Given the description of an element on the screen output the (x, y) to click on. 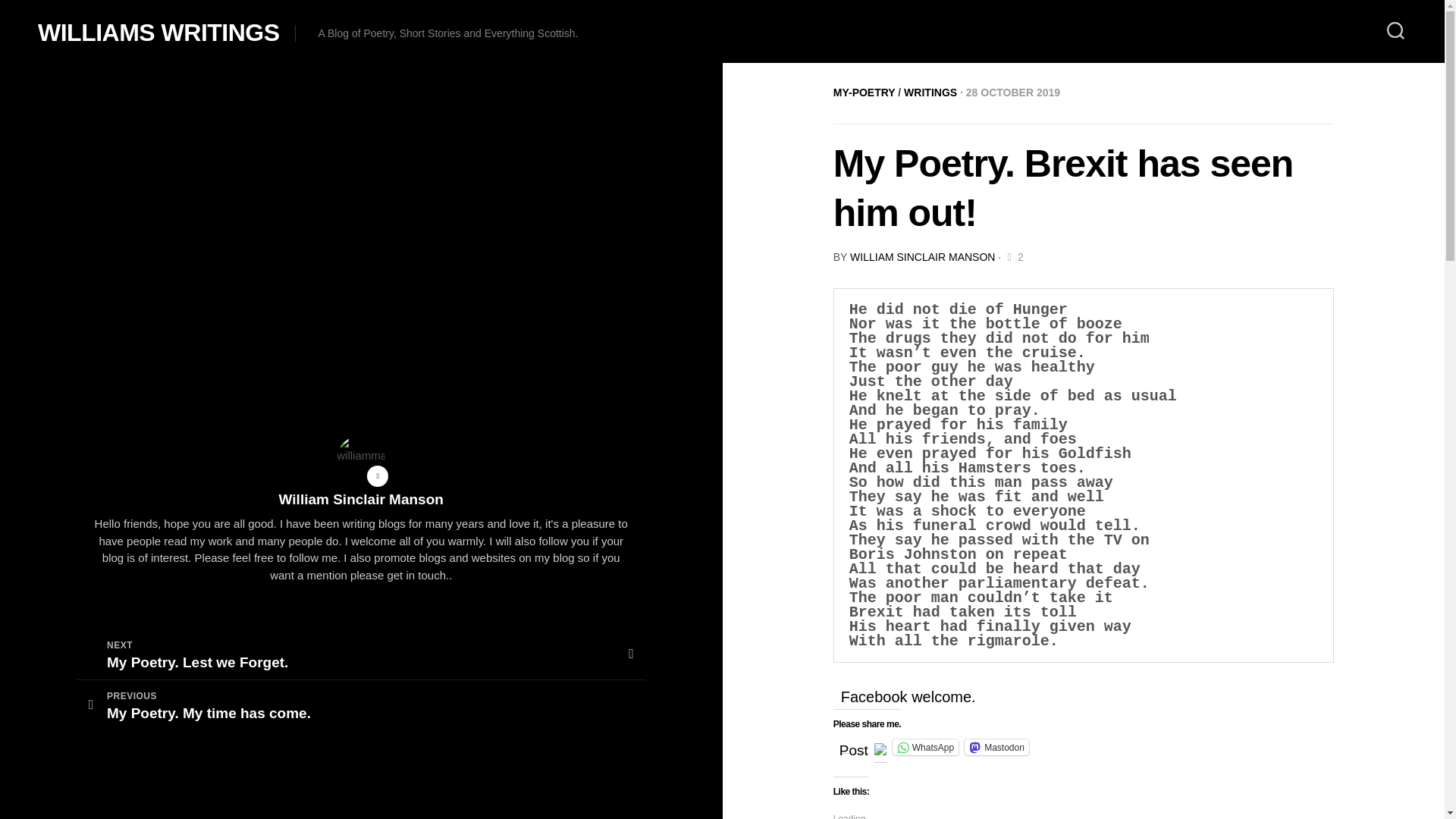
MY-POETRY (863, 92)
2 (1013, 256)
Click to share on WhatsApp (925, 747)
WILLIAMS WRITINGS (158, 32)
Click to share on Mastodon (996, 747)
WhatsApp (925, 747)
Posts by William Sinclair Manson (361, 653)
Post (922, 256)
WILLIAM SINCLAIR MANSON (853, 745)
